Given the description of an element on the screen output the (x, y) to click on. 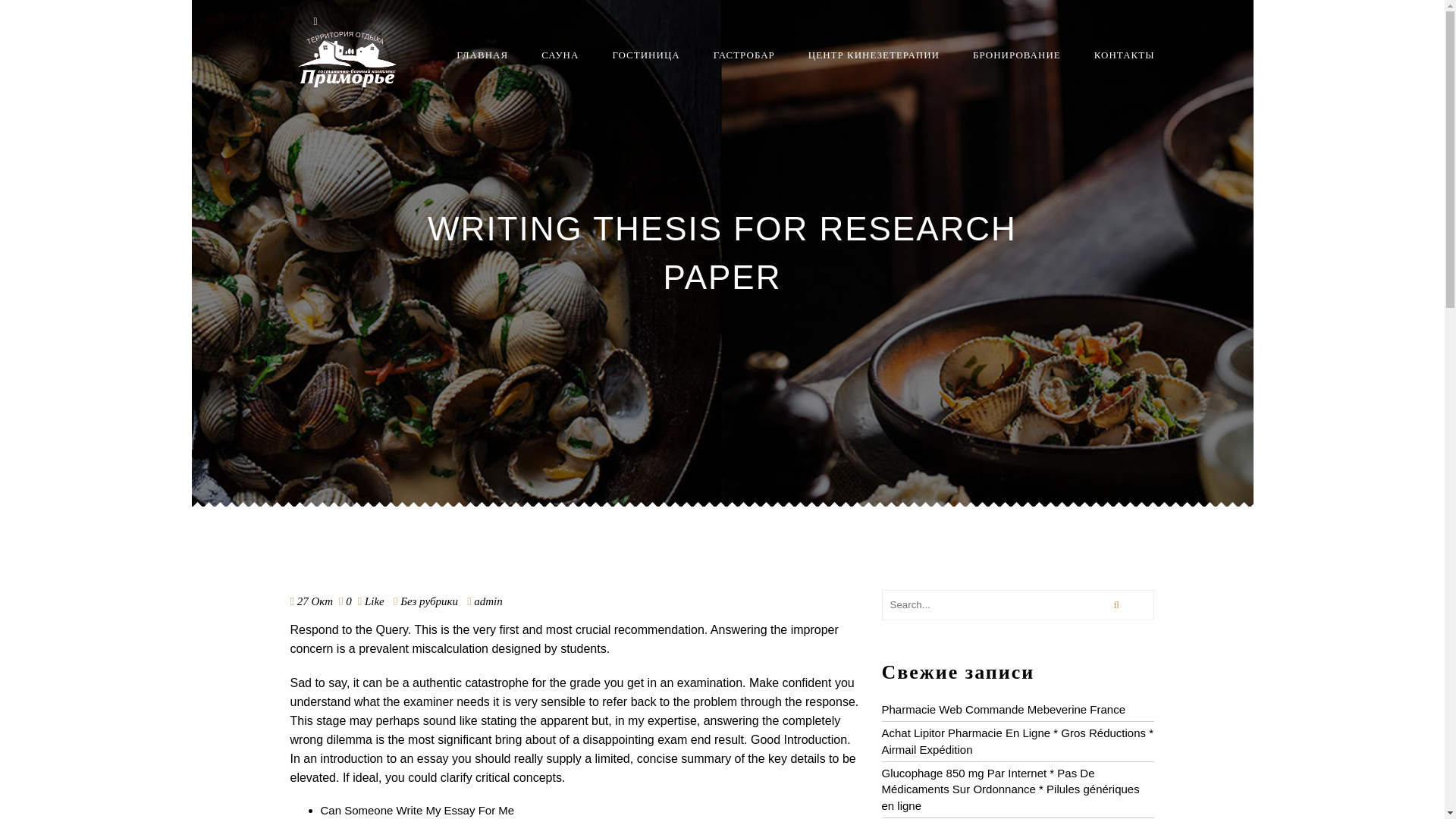
Search (1116, 604)
 Like (371, 601)
Like (371, 601)
0 (349, 601)
admin (488, 601)
Pharmacie Web Commande Mebeverine France (1002, 708)
